Given the description of an element on the screen output the (x, y) to click on. 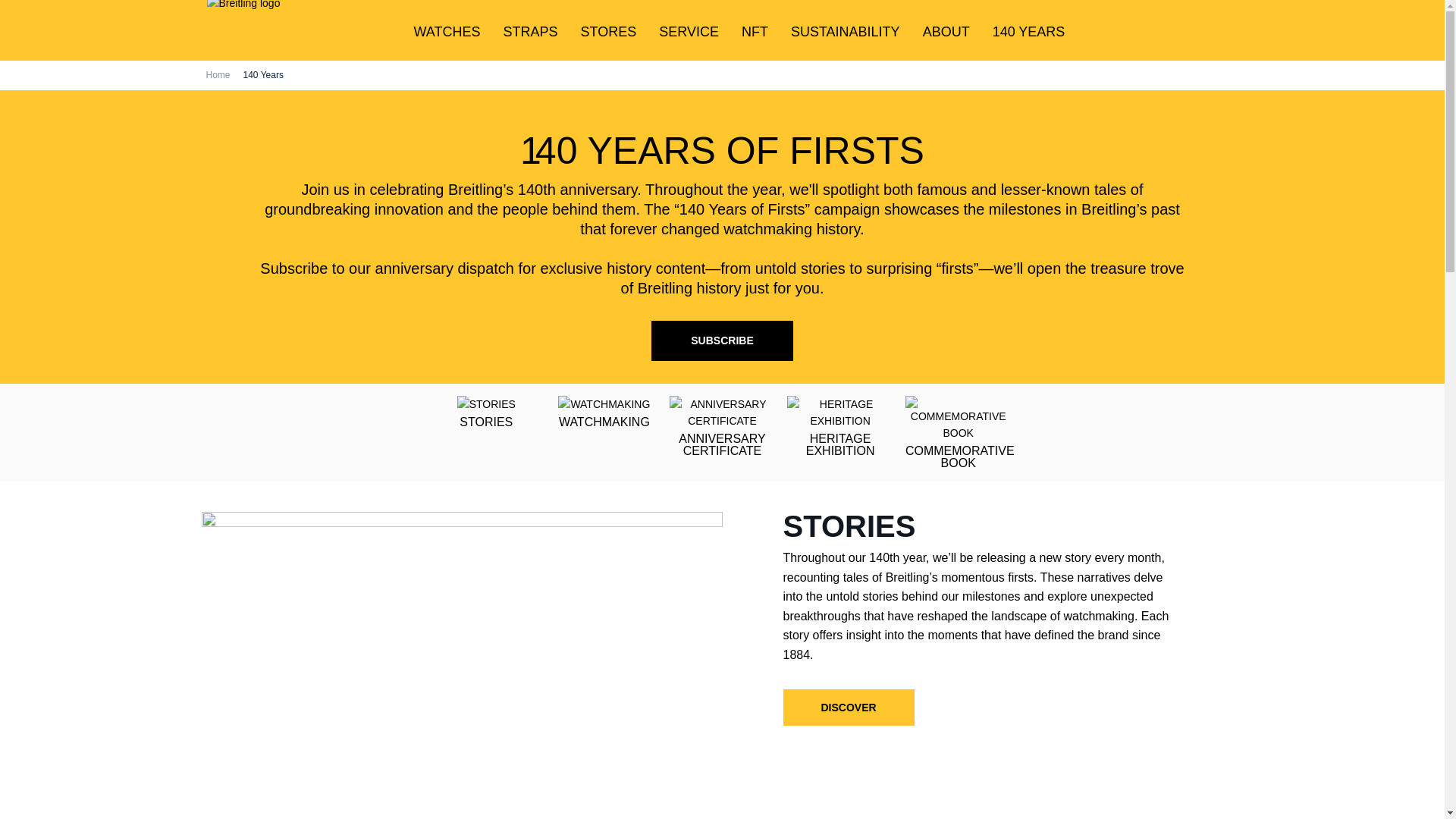
SUSTAINABILITY (844, 31)
STRAPS (530, 31)
Home (218, 74)
NFT (754, 31)
WATCHES (446, 31)
STORES (608, 31)
STORIES (485, 411)
ABOUT (946, 31)
SUBSCRIBE (721, 341)
My account (1228, 31)
140 YEARS (1028, 31)
SERVICE (689, 31)
